Given the description of an element on the screen output the (x, y) to click on. 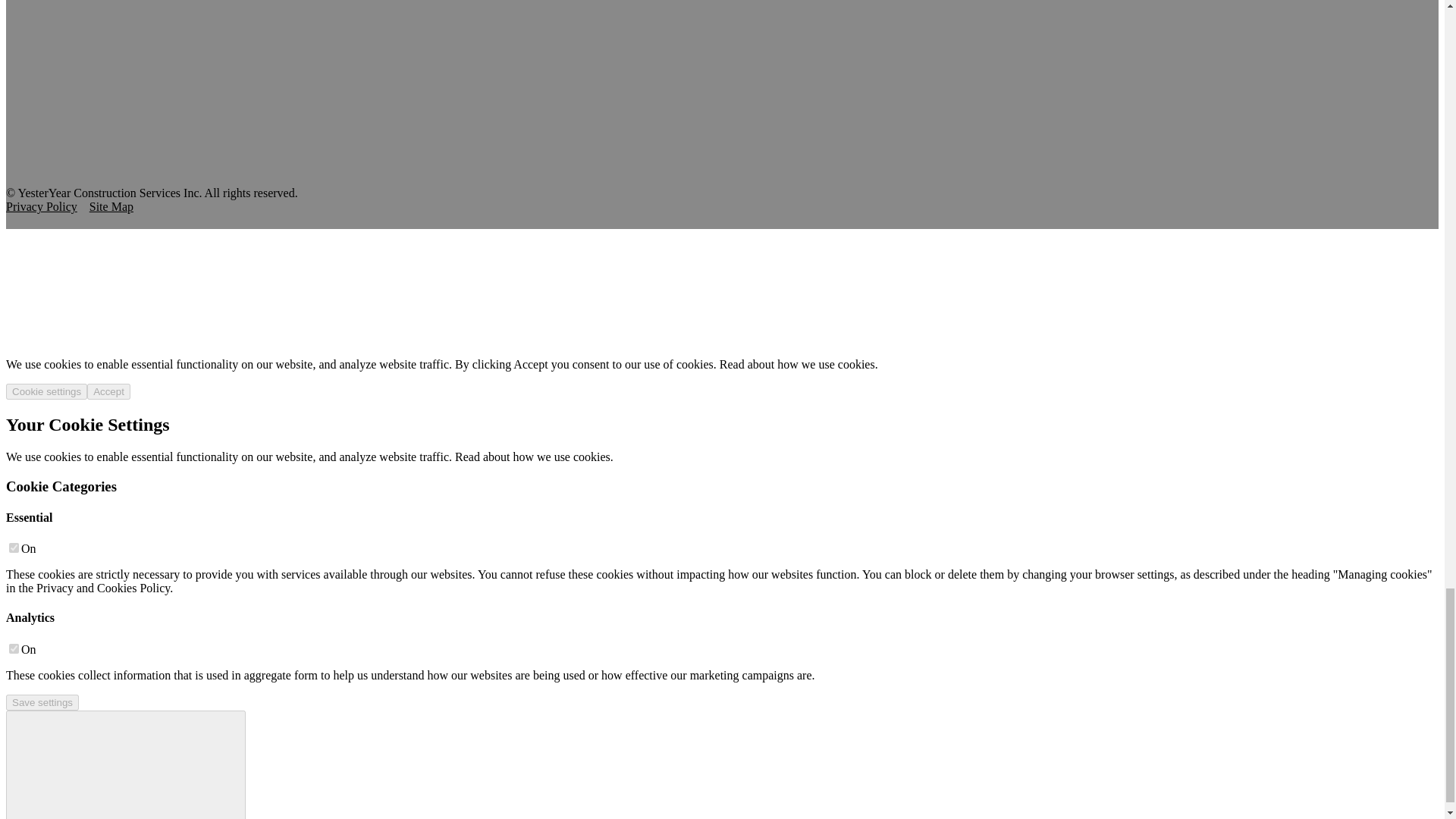
Save settings (41, 702)
Read about how we use cookies. (798, 364)
on (13, 648)
Site Map (110, 205)
Read about how we use cookies (532, 456)
Accept (109, 391)
Cookie settings (46, 391)
Privacy and Cookies Policy (103, 587)
Privacy Policy (41, 205)
on (13, 547)
